Given the description of an element on the screen output the (x, y) to click on. 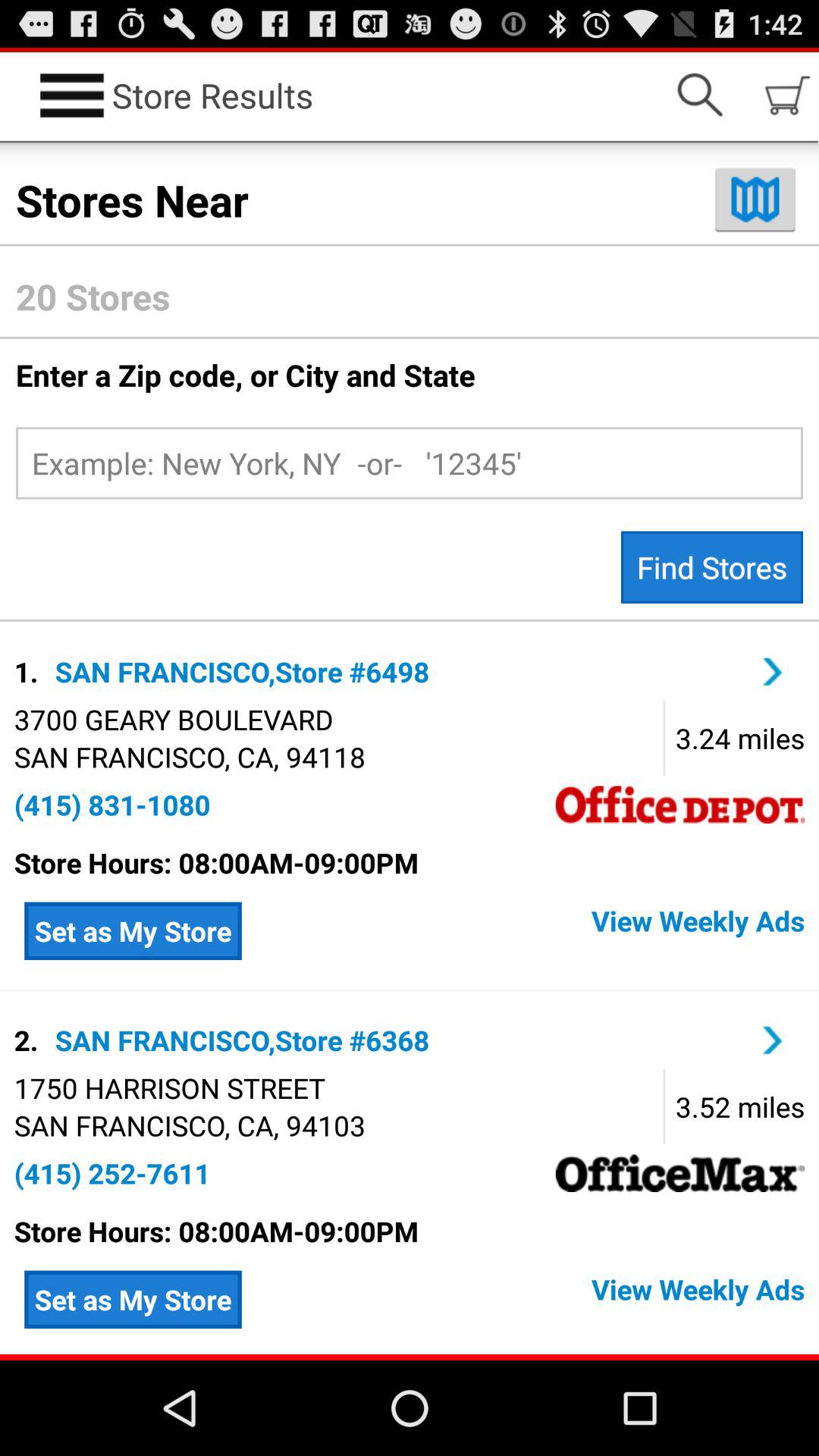
switch to map view (755, 199)
